Given the description of an element on the screen output the (x, y) to click on. 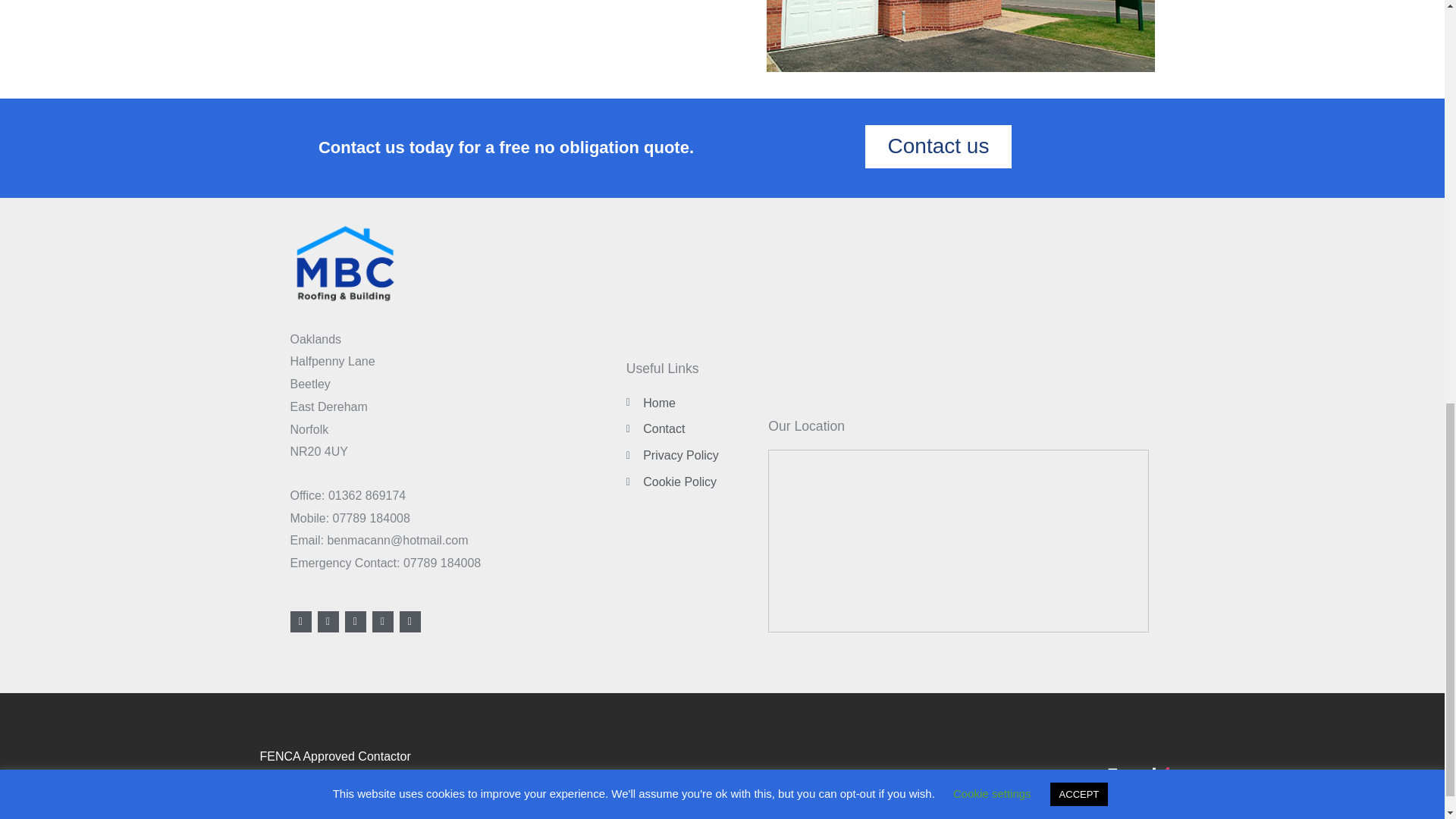
Twitter (327, 621)
Contact (693, 428)
Contact us (937, 146)
Cookie Policy (693, 481)
Instagram (382, 621)
Privacy Policy (693, 455)
Home (693, 403)
Linkedin (409, 621)
Facebook (300, 621)
Google-plus (354, 621)
